Given the description of an element on the screen output the (x, y) to click on. 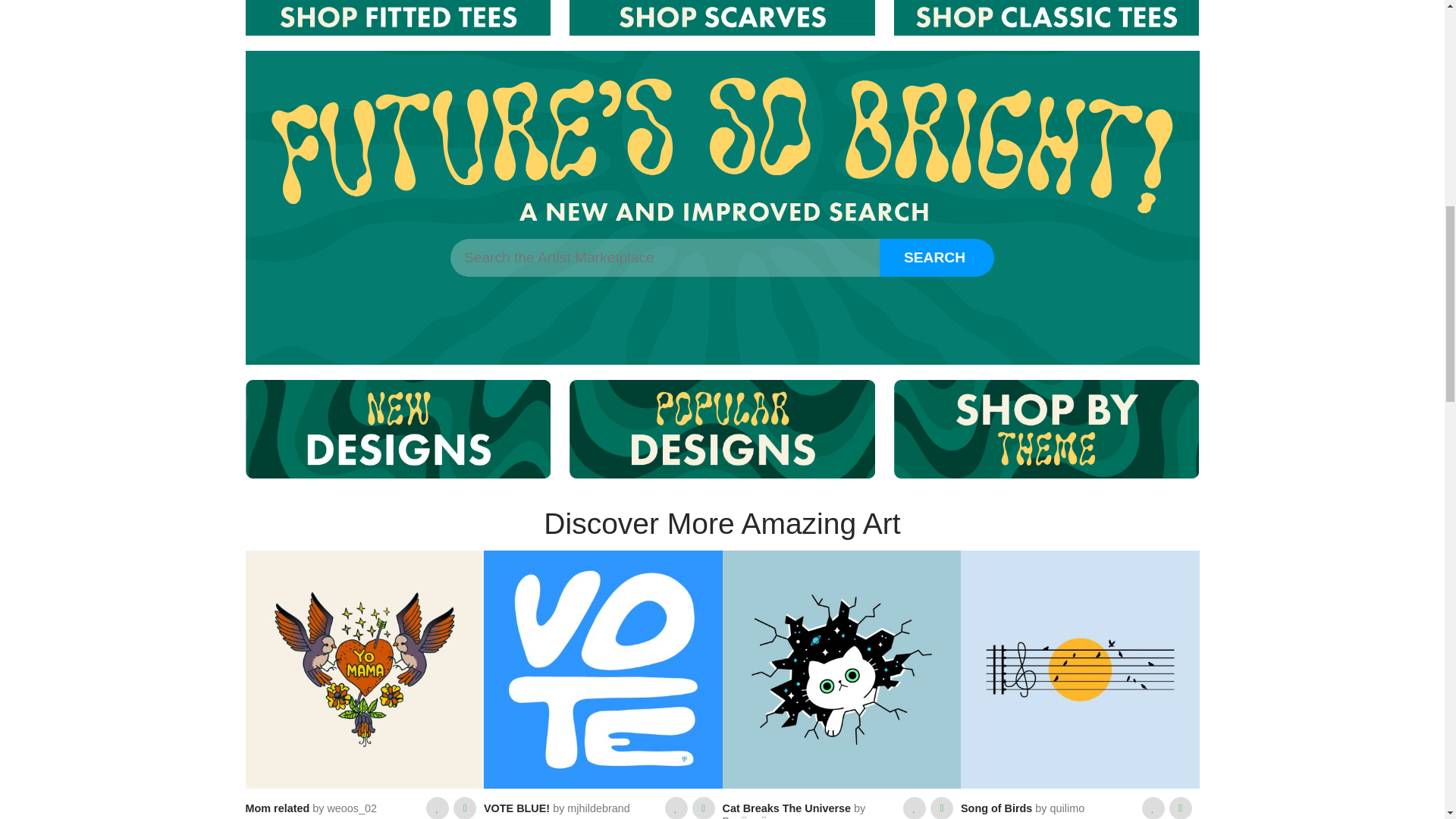
Search (936, 257)
